Given the description of an element on the screen output the (x, y) to click on. 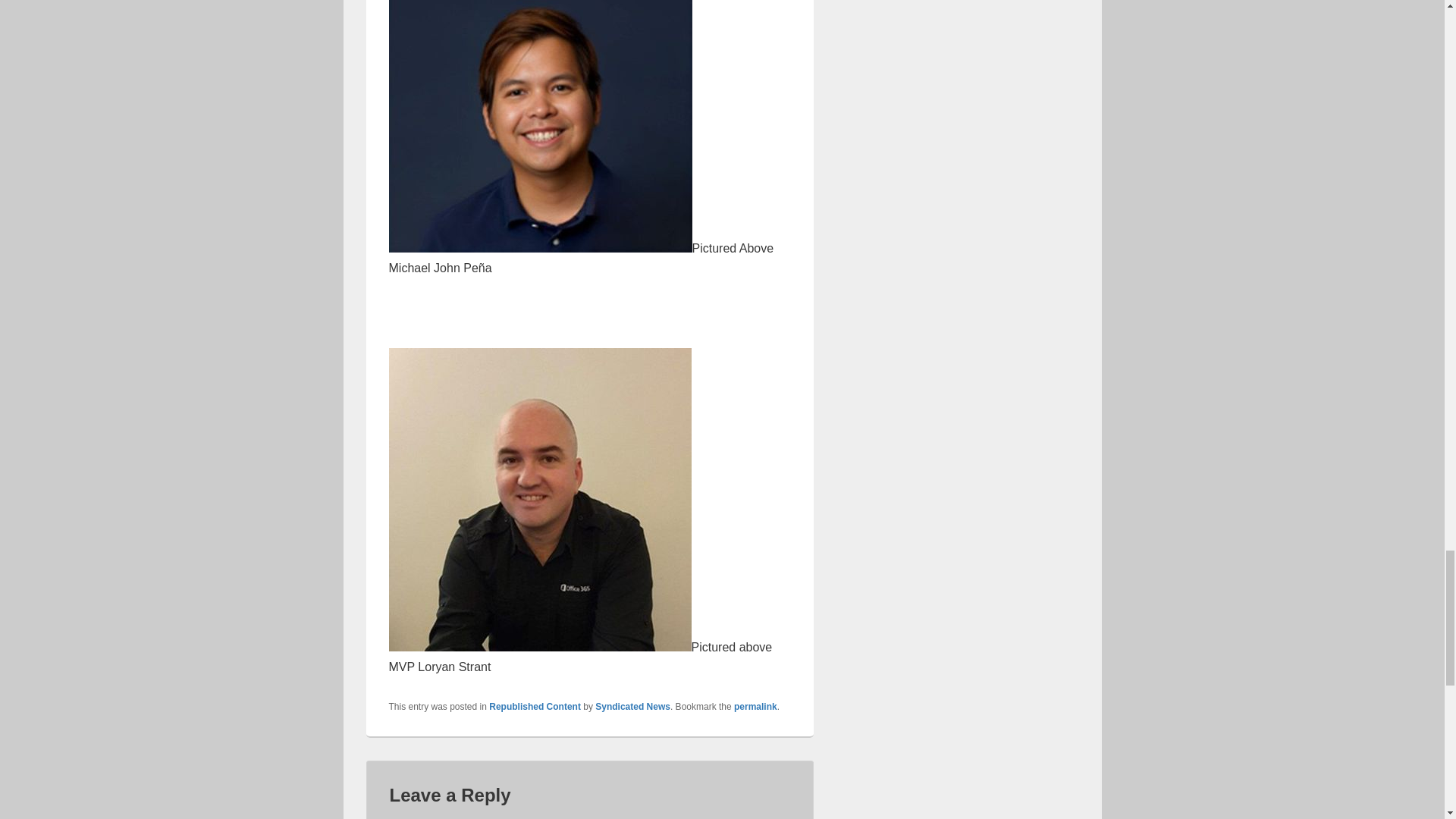
Loryan 2.jpg (539, 499)
Republished Content (534, 706)
Syndicated News (632, 706)
Michael 2.jpg (539, 126)
permalink (755, 706)
